Given the description of an element on the screen output the (x, y) to click on. 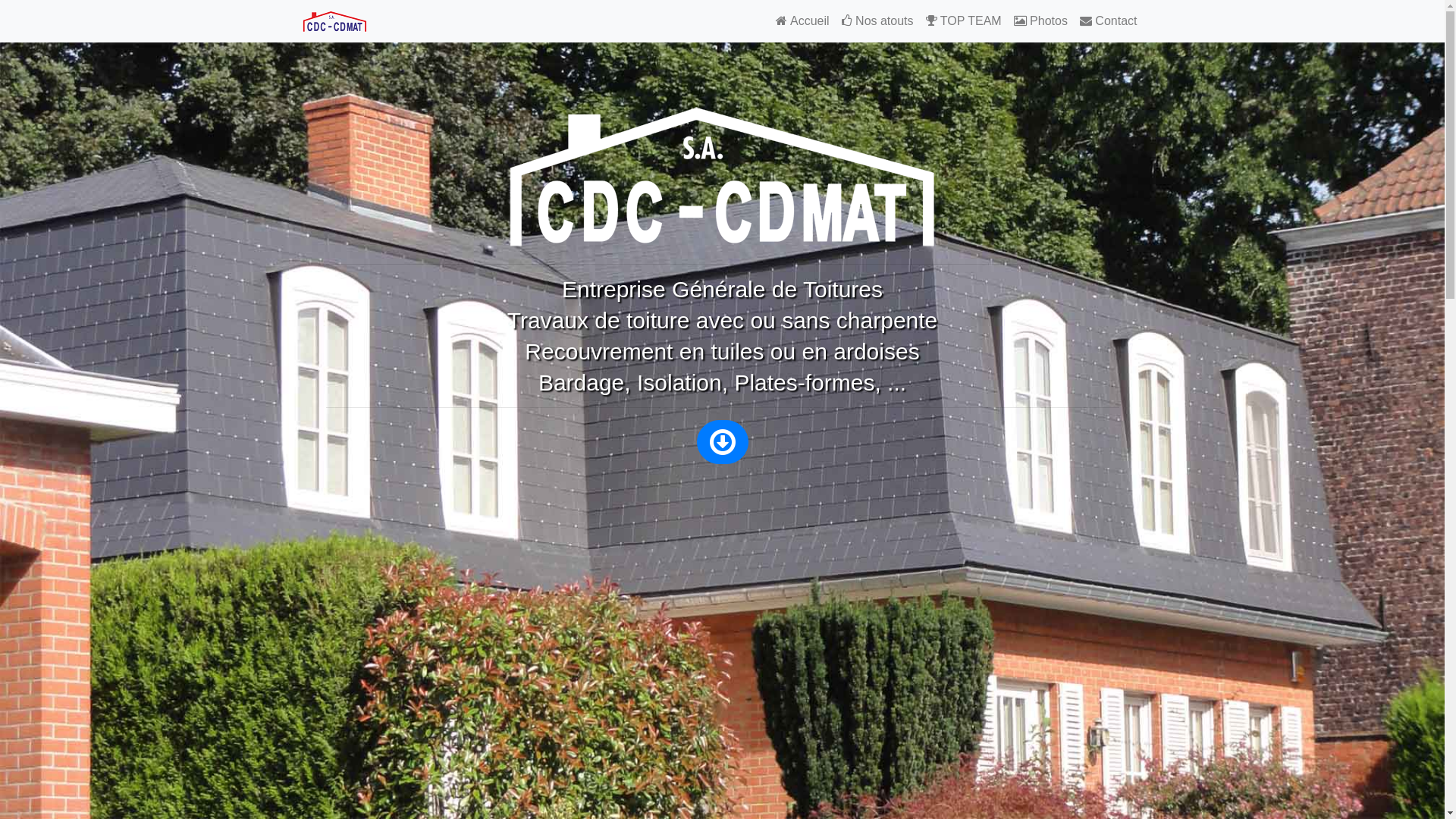
CDC CDMAT Logo Element type: hover (721, 174)
TOP TEAM Element type: text (963, 21)
Accueil Element type: text (801, 21)
Photos Element type: text (1040, 21)
Nos atouts Element type: text (877, 21)
Contact Element type: text (1108, 21)
